Given the description of an element on the screen output the (x, y) to click on. 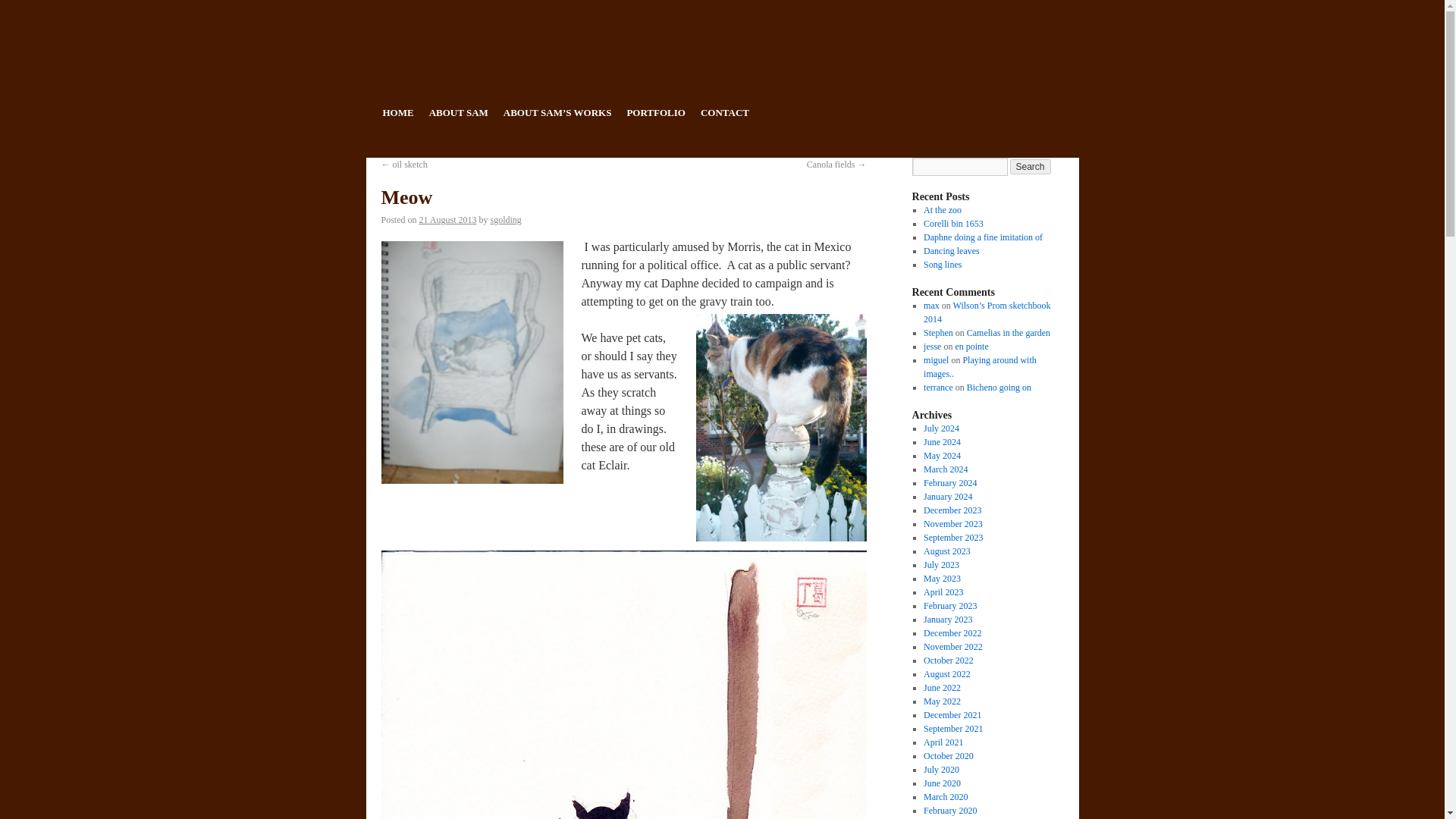
Daphne doing a fine imitation of (982, 236)
4:33 pm (448, 219)
en pointe (971, 346)
Camelias in the garden (1007, 332)
PORTFOLIO (655, 112)
Search (1030, 166)
sgolding (505, 219)
miguel (936, 359)
View all posts by sgolding (505, 219)
At the zoo (941, 209)
HOME (397, 112)
21 August 2013 (448, 219)
jesse (931, 346)
Search (1030, 166)
max (931, 305)
